Given the description of an element on the screen output the (x, y) to click on. 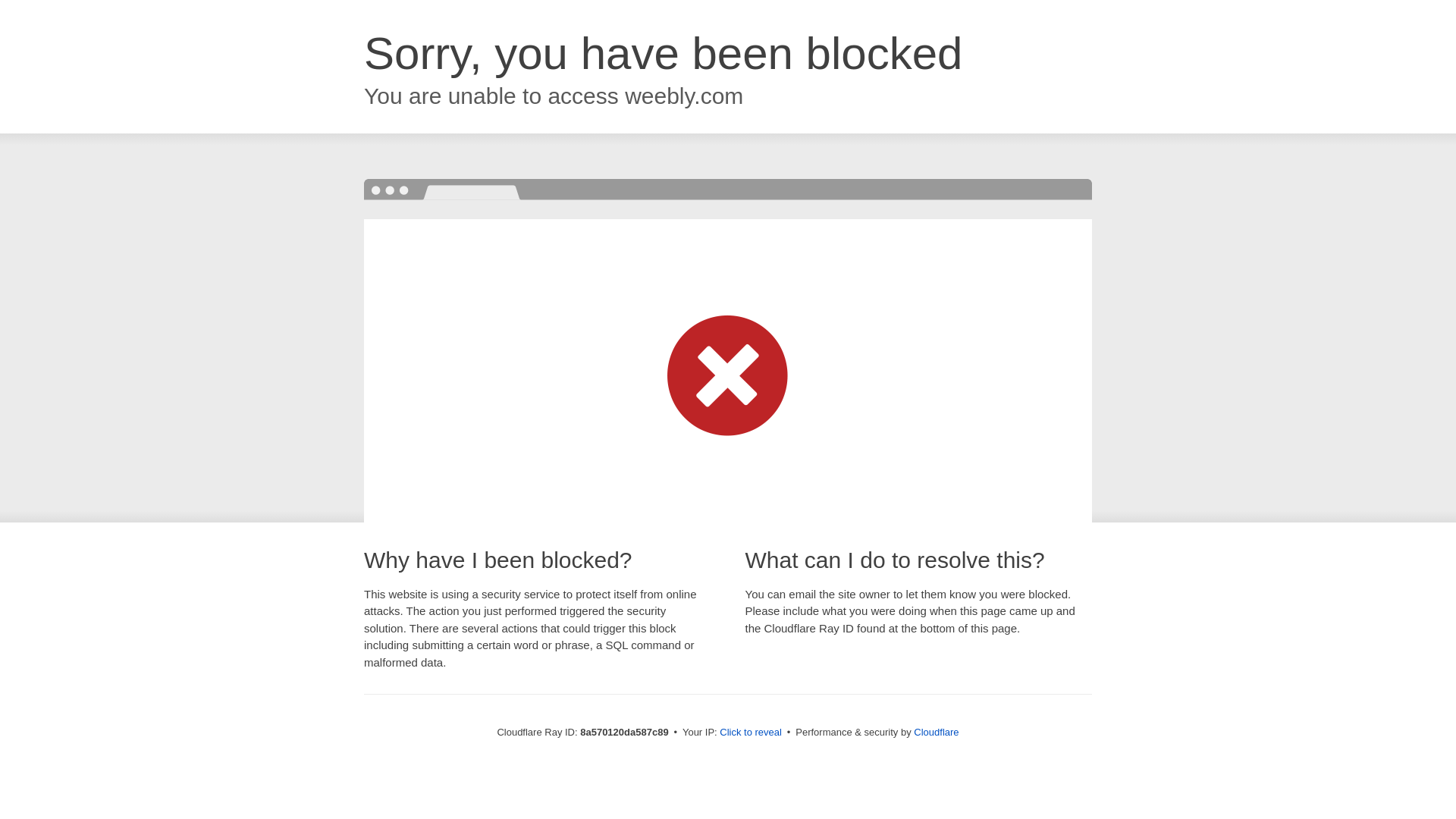
Click to reveal (750, 732)
Cloudflare (936, 731)
